Given the description of an element on the screen output the (x, y) to click on. 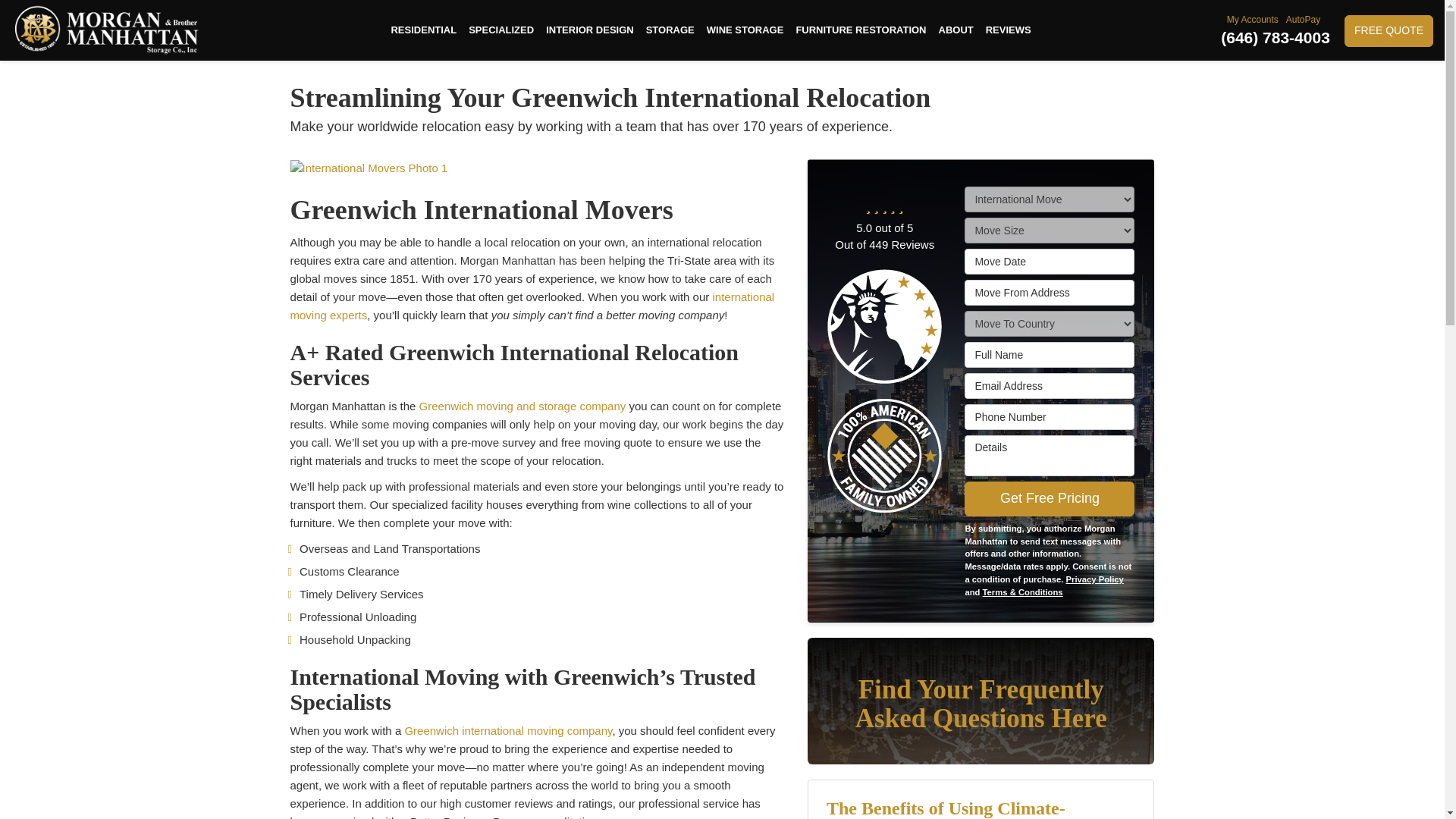
FURNITURE RESTORATION (860, 30)
FREE QUOTE (1387, 30)
WINE STORAGE (745, 30)
SPECIALIZED (501, 30)
STORAGE (670, 30)
RESIDENTIAL (423, 30)
REVIEWS (1007, 30)
AutoPay (1304, 19)
My Accounts (1254, 19)
INTERIOR DESIGN (590, 30)
